Given the description of an element on the screen output the (x, y) to click on. 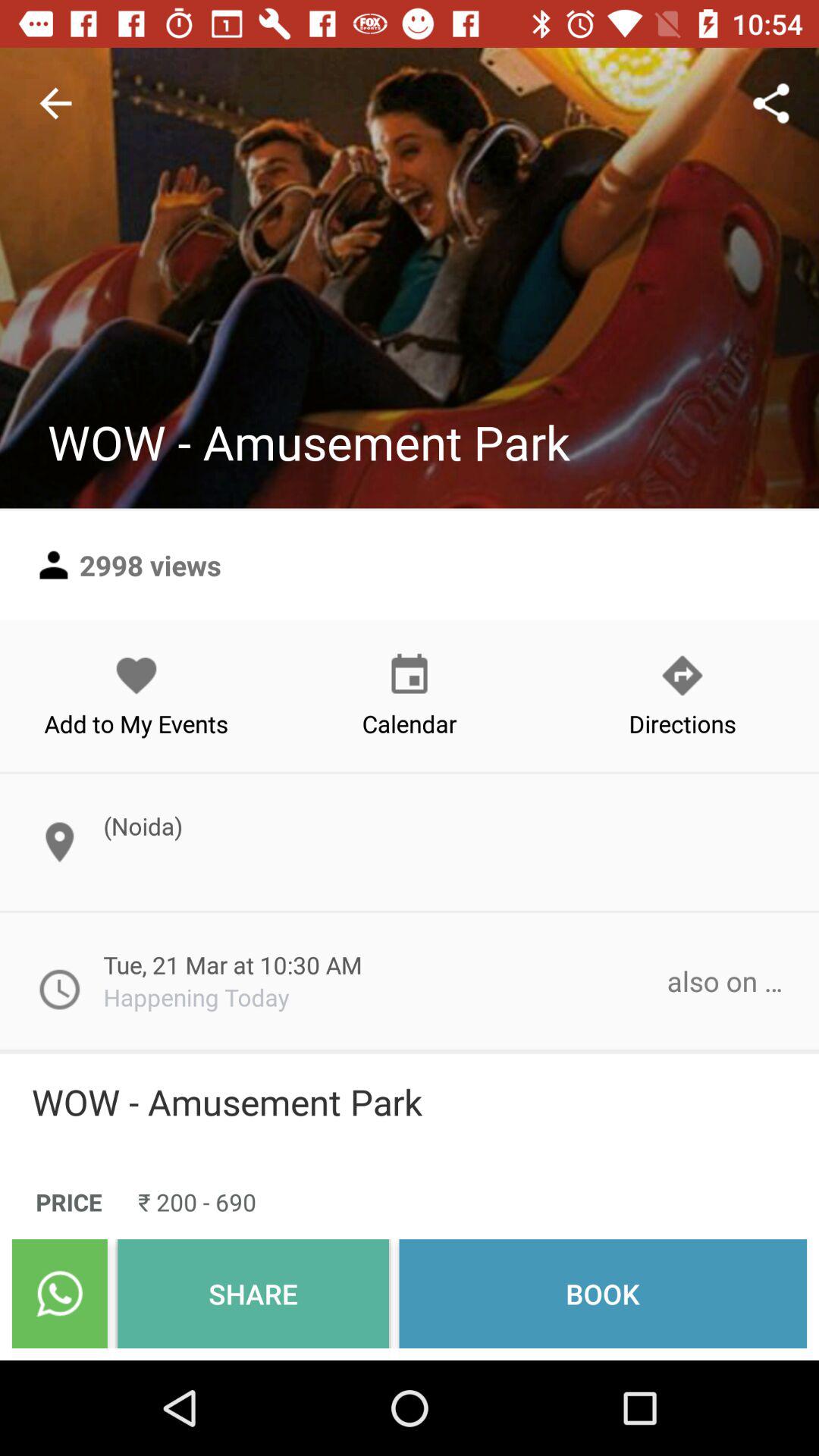
turn on the item at the top left corner (55, 103)
